Given the description of an element on the screen output the (x, y) to click on. 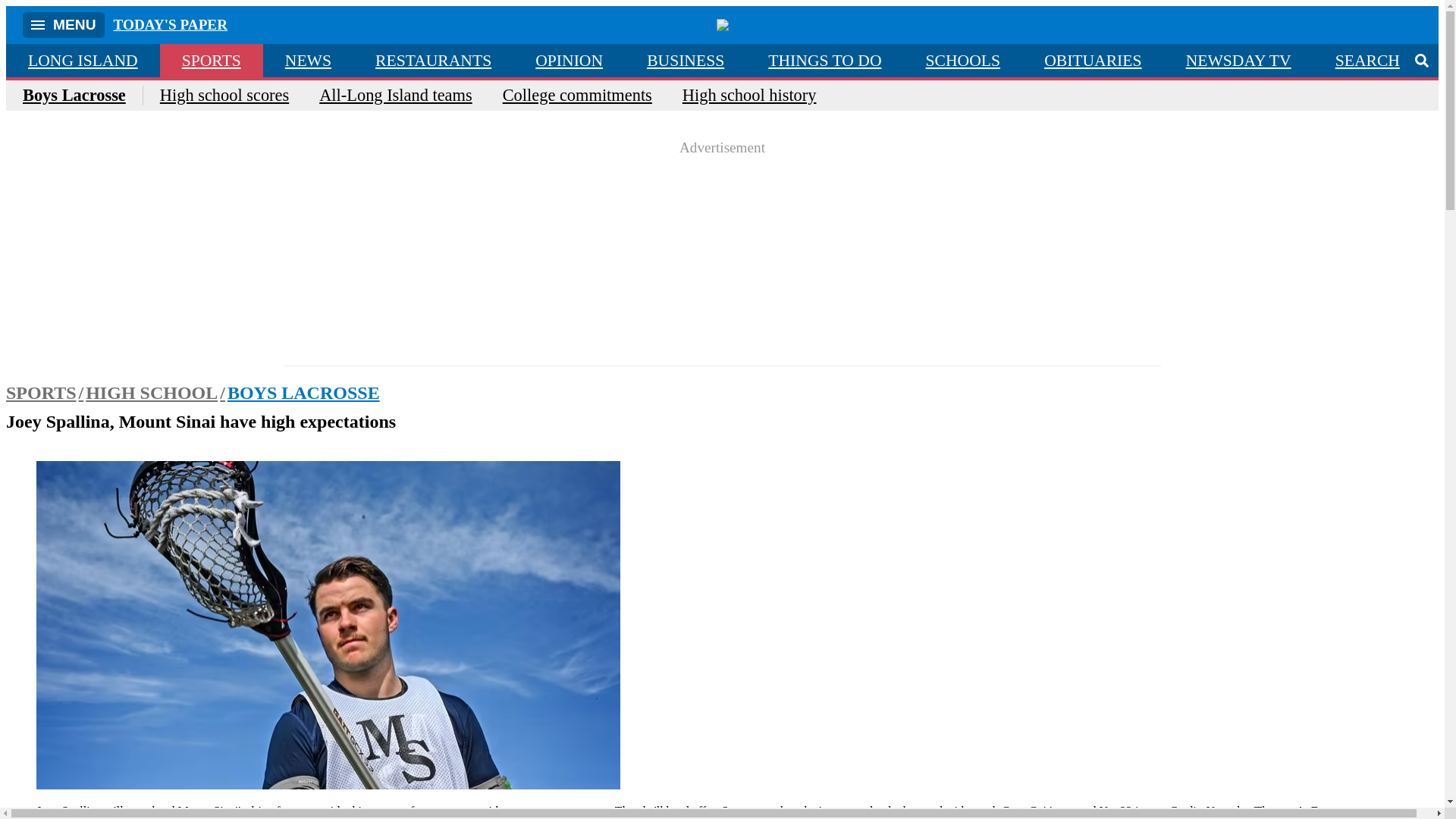
TODAY'S PAPER (170, 24)
BOYS LACROSSE (303, 392)
High school history (749, 95)
RESTAURANTS (433, 60)
All-Long Island teams (394, 95)
THINGS TO DO (823, 60)
BUSINESS (684, 60)
NEWS (308, 60)
MENU (63, 24)
College commitments (577, 95)
SCHOOLS (963, 60)
OBITUARIES (1092, 60)
SPORTS (211, 60)
High school scores (224, 95)
Boys Lacrosse (82, 95)
